Given the description of an element on the screen output the (x, y) to click on. 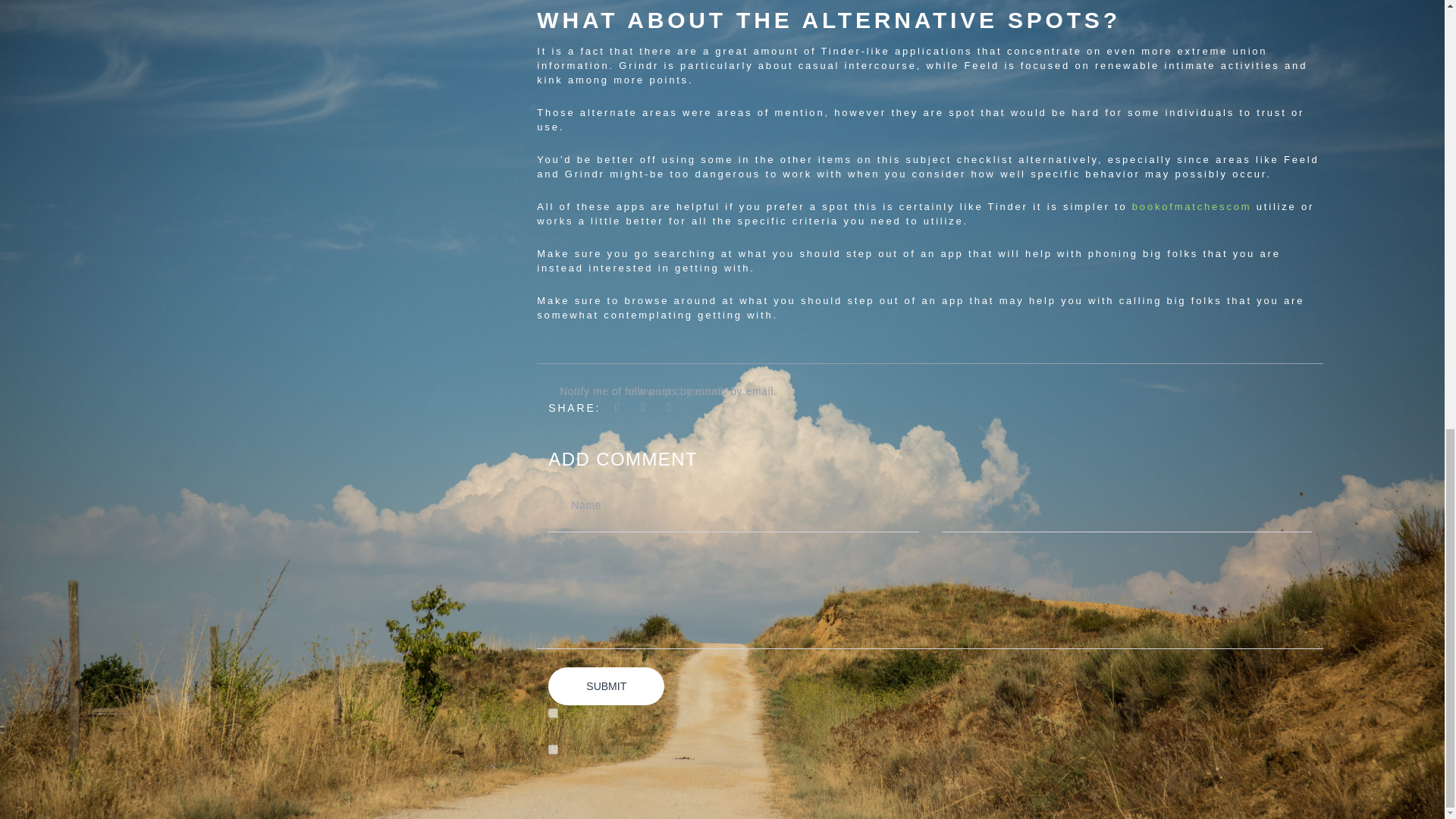
bookofmatchescom (1192, 206)
SUBMIT (605, 686)
subscribe (552, 749)
subscribe (552, 713)
